Given the description of an element on the screen output the (x, y) to click on. 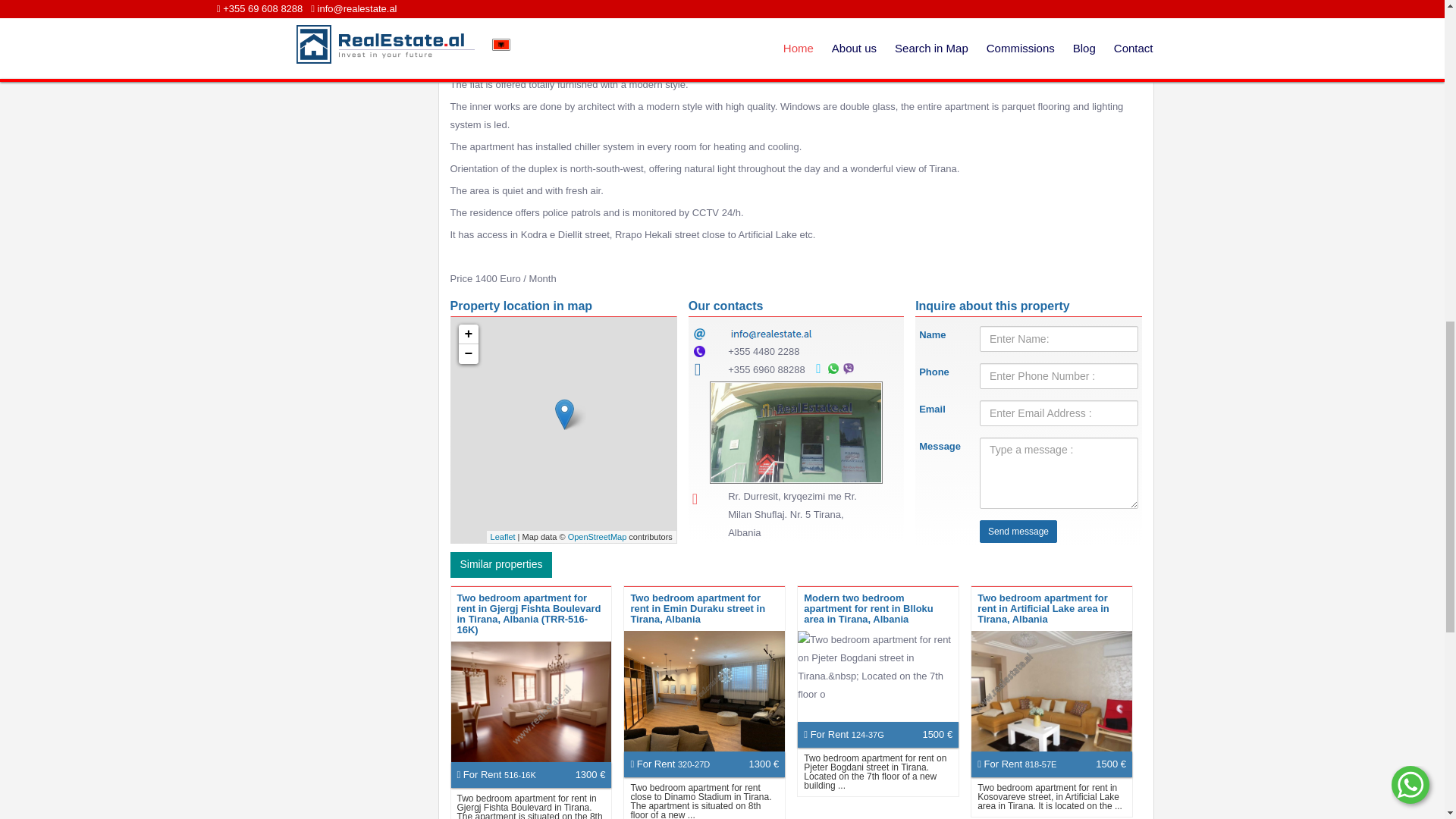
Zoom in (467, 333)
Send message (1018, 531)
Leaflet (502, 536)
Similar properties (501, 565)
Send message (1018, 531)
OpenStreetMap (597, 536)
